Given the description of an element on the screen output the (x, y) to click on. 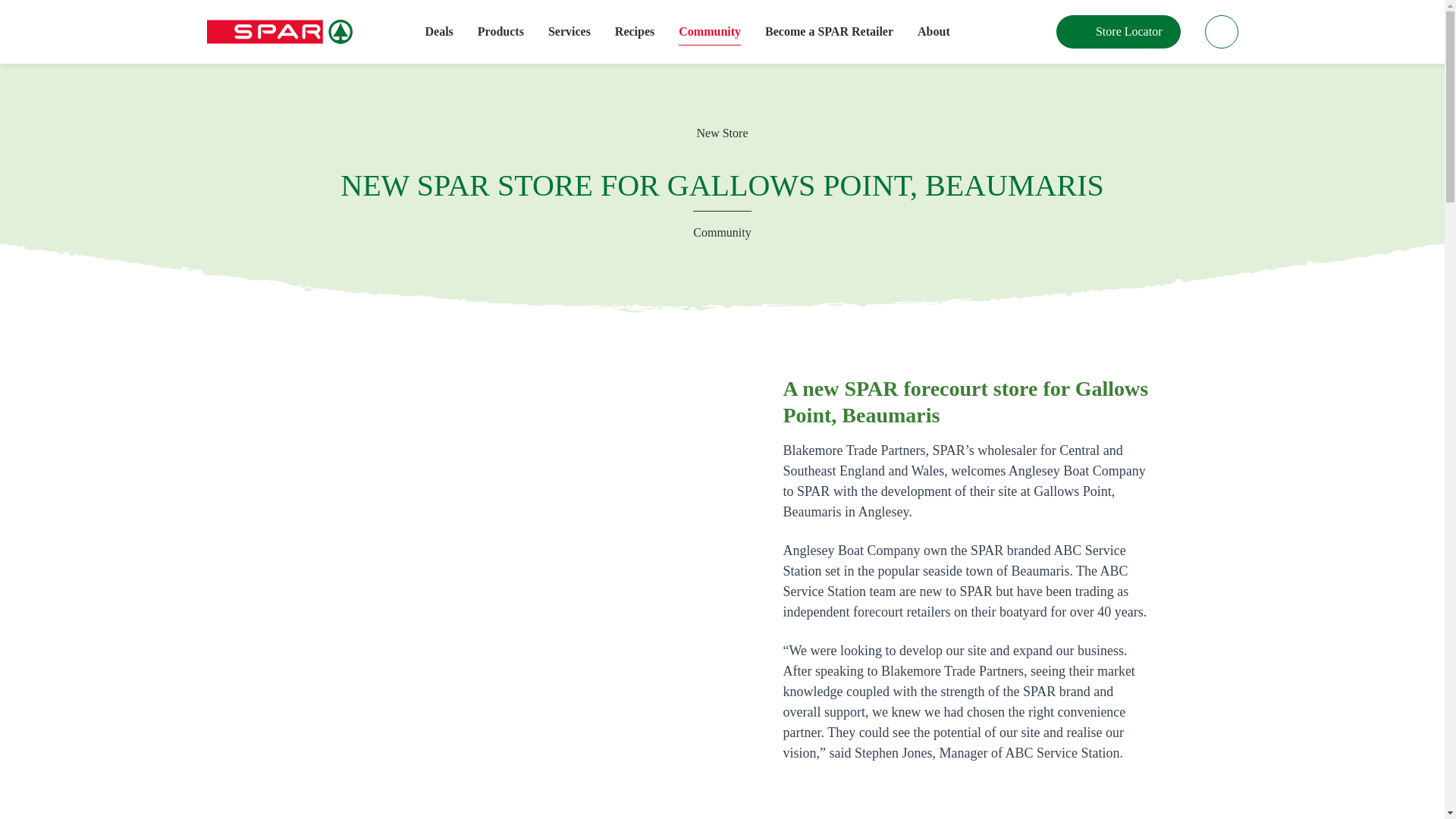
Products (500, 31)
Community (709, 31)
Services (569, 31)
Recipes (633, 31)
